Given the description of an element on the screen output the (x, y) to click on. 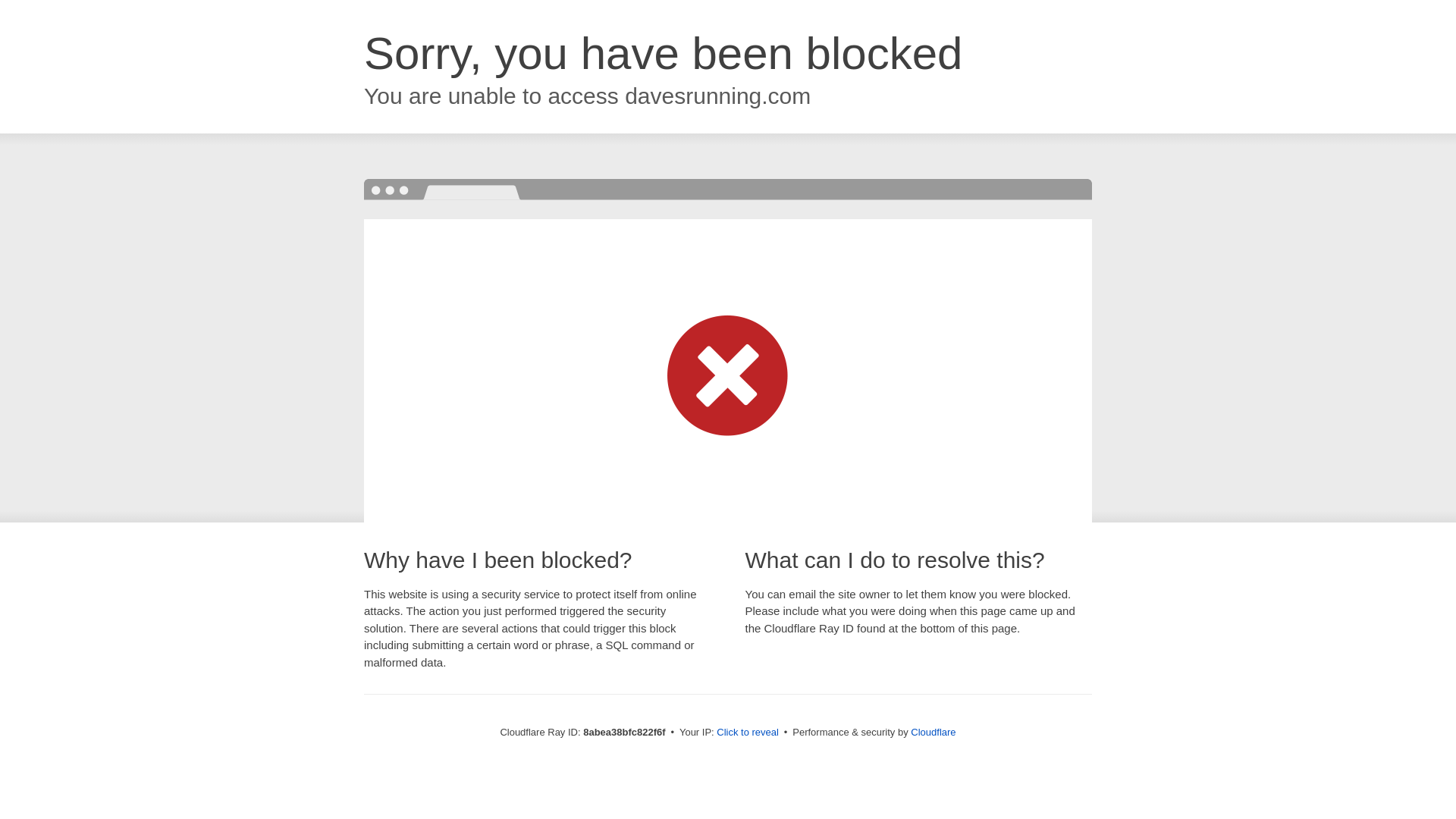
Click to reveal (747, 732)
Cloudflare (933, 731)
